Given the description of an element on the screen output the (x, y) to click on. 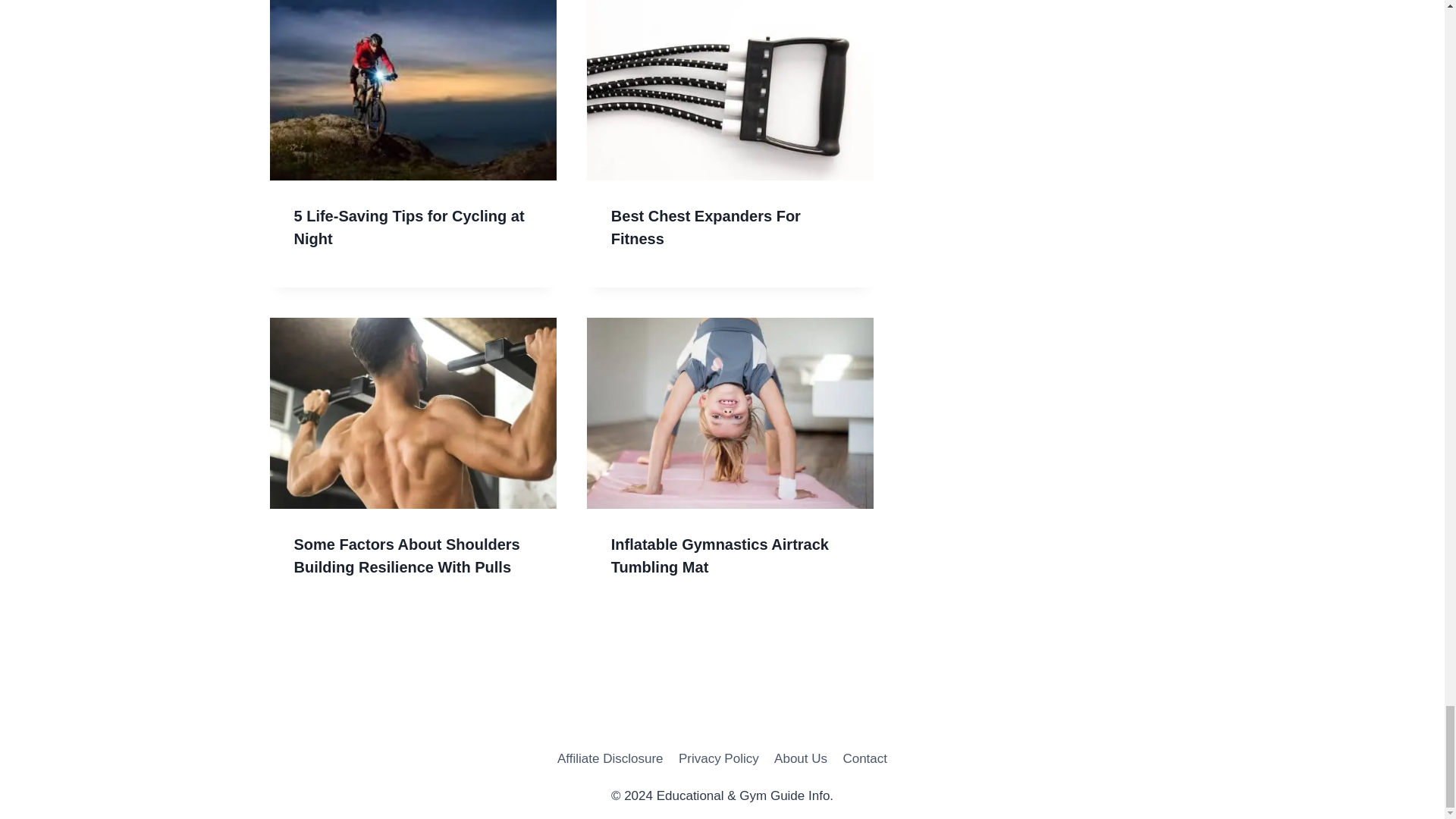
5 Life-Saving Tips for Cycling at Night (409, 227)
Some Factors About Shoulders Building Resilience With Pulls (406, 555)
Best Chest Expanders For Fitness (705, 227)
